Given the description of an element on the screen output the (x, y) to click on. 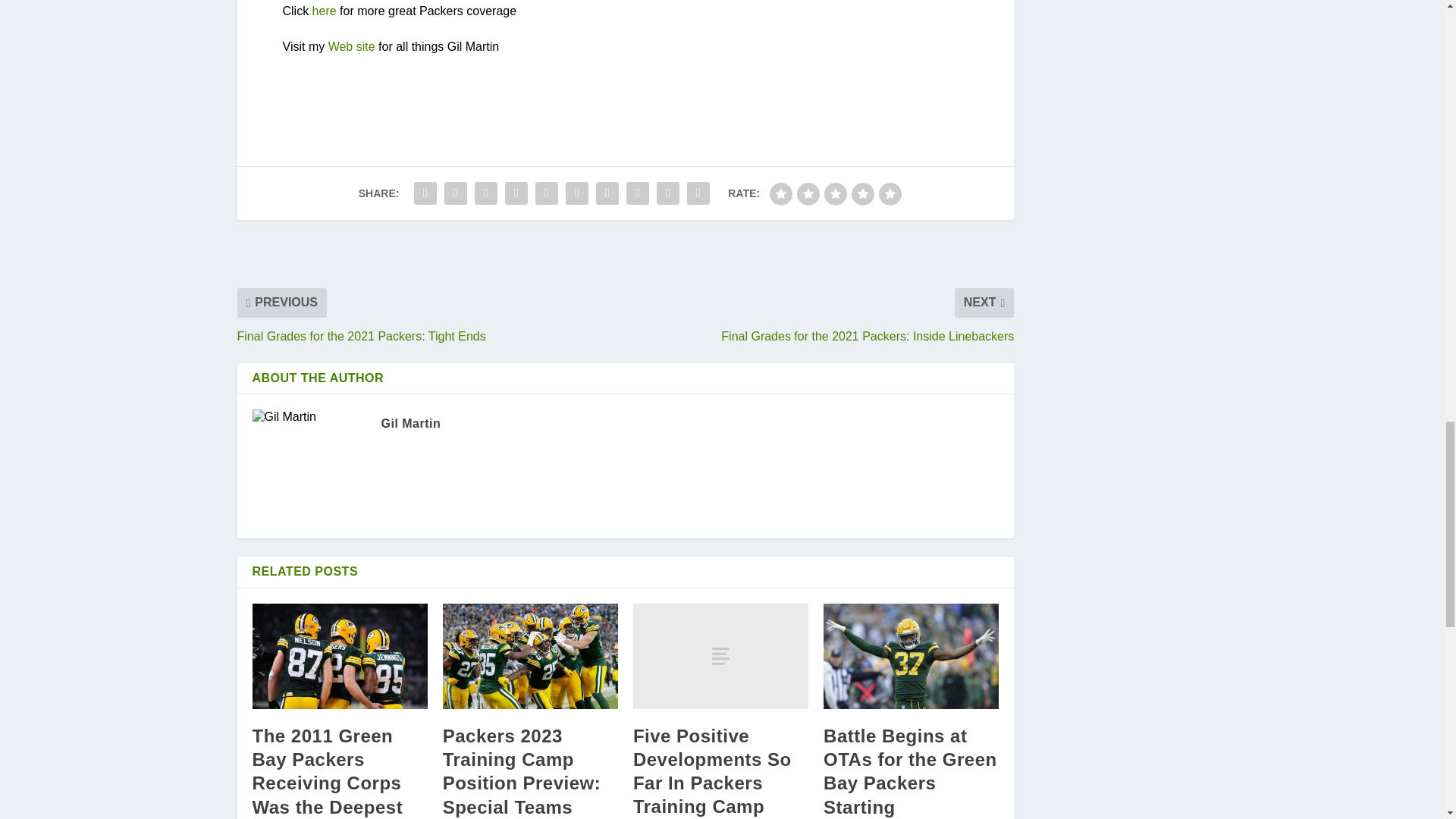
Web site (352, 46)
here (324, 10)
